Given the description of an element on the screen output the (x, y) to click on. 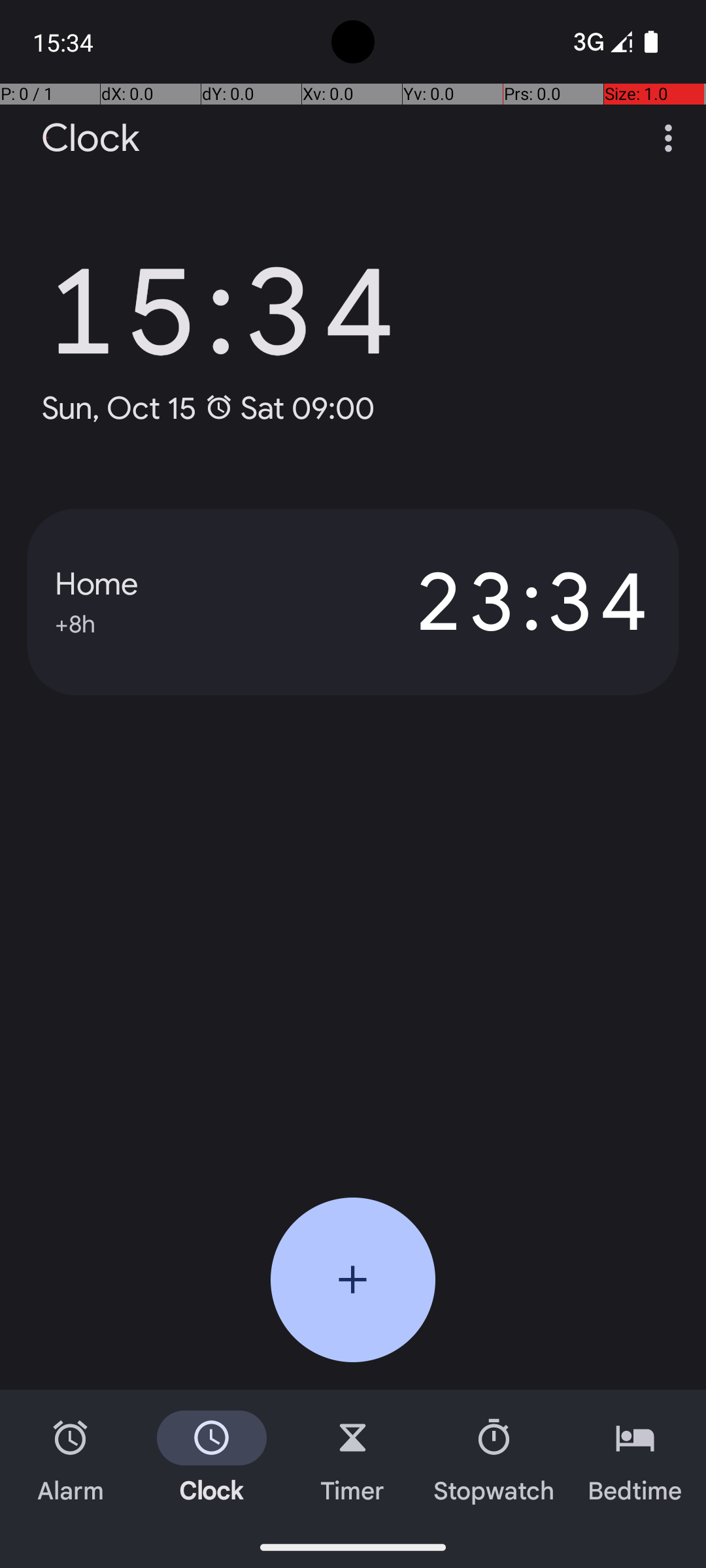
Sun, Oct 15 A Sat 09:00 Element type: android.widget.TextView (207, 407)
+8h Element type: android.widget.TextView (74, 621)
23:34 Element type: android.widget.TextView (502, 601)
